Given the description of an element on the screen output the (x, y) to click on. 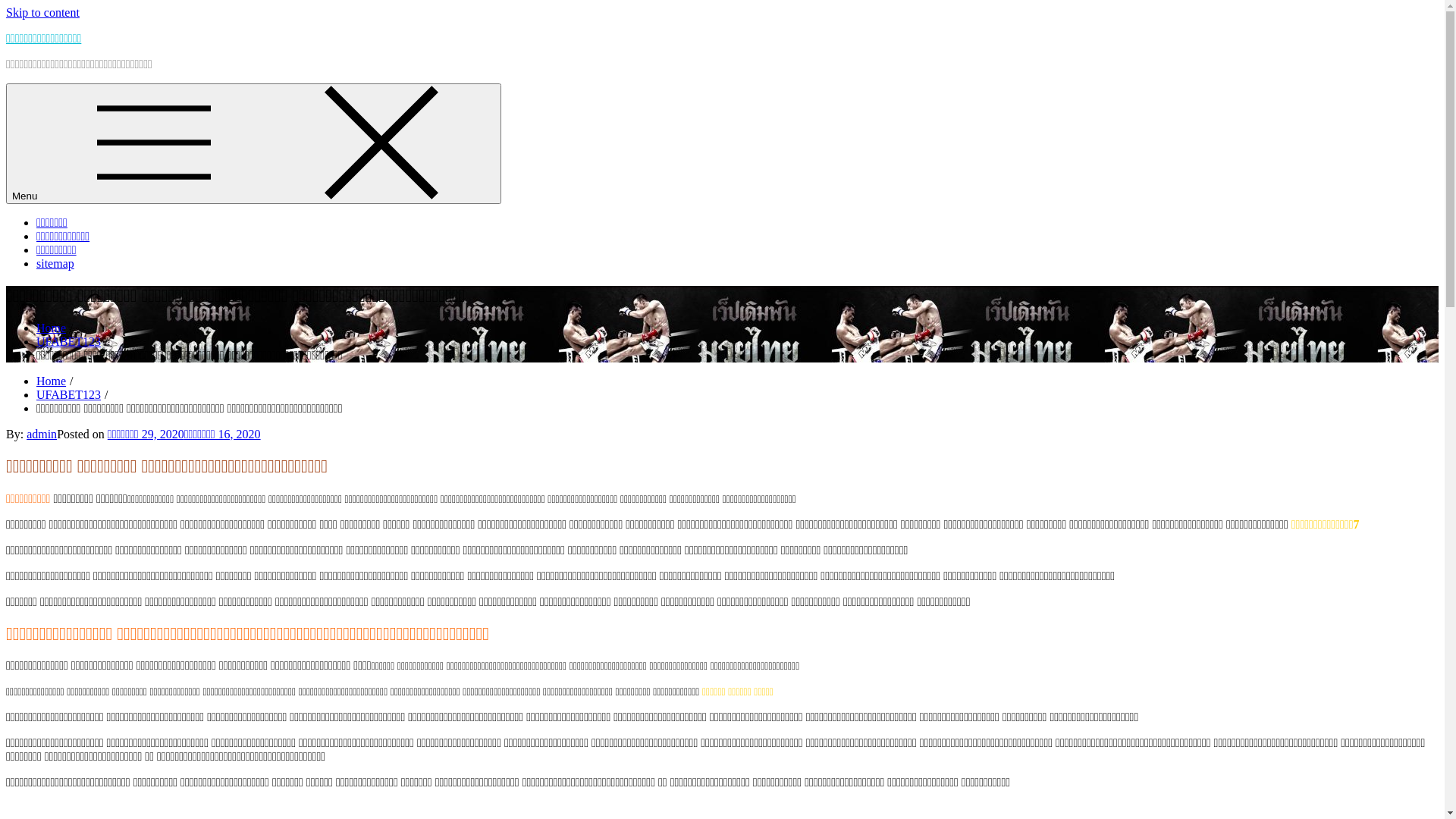
UFABET123 Element type: text (68, 394)
sitemap Element type: text (55, 263)
Home Element type: text (50, 380)
Menu Element type: text (253, 143)
admin Element type: text (41, 433)
Home Element type: text (50, 327)
UFABET123 Element type: text (68, 341)
Skip to content Element type: text (42, 12)
